Given the description of an element on the screen output the (x, y) to click on. 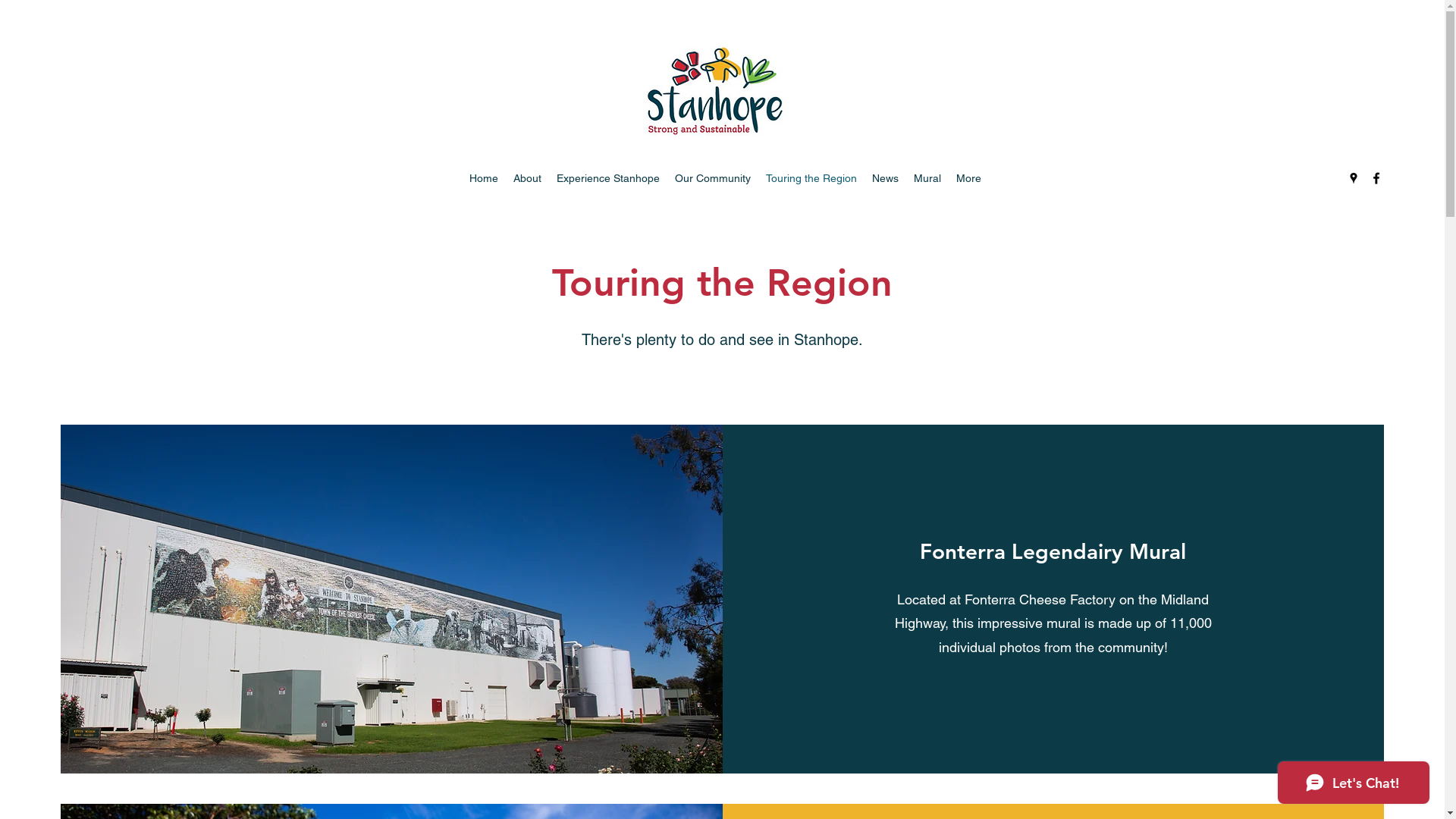
Our Community Element type: text (712, 177)
Home Element type: text (483, 177)
Mural Element type: text (927, 177)
Experience Stanhope Element type: text (608, 177)
About Element type: text (527, 177)
News Element type: text (885, 177)
Touring the Region Element type: text (811, 177)
